Given the description of an element on the screen output the (x, y) to click on. 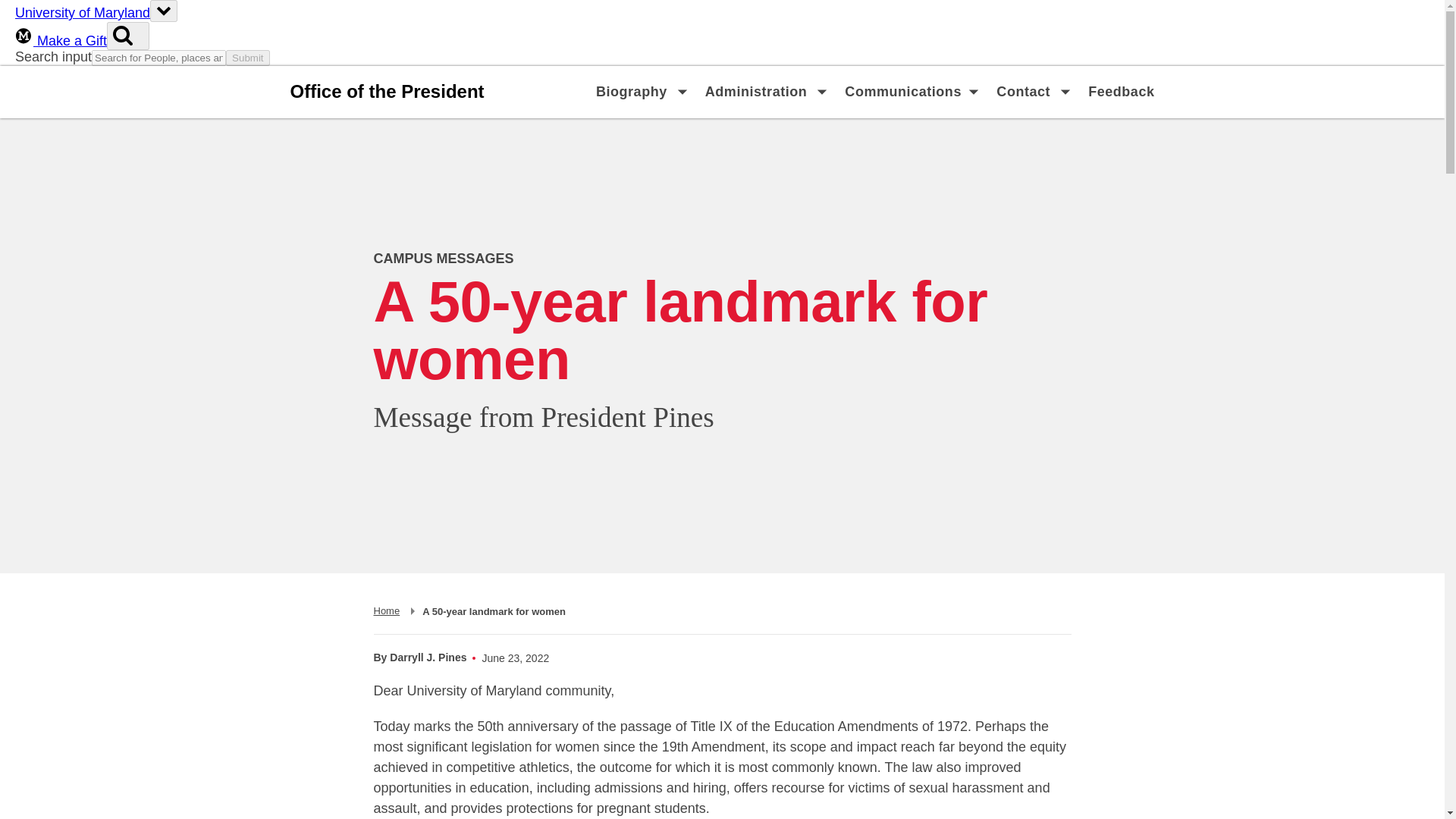
Communications (901, 92)
Administration (755, 92)
Feedback (1120, 92)
Office of the President (385, 611)
CAMPUS MESSAGES (386, 91)
Biography (442, 258)
Darryll J. Pines (631, 92)
Contact (427, 657)
